Given the description of an element on the screen output the (x, y) to click on. 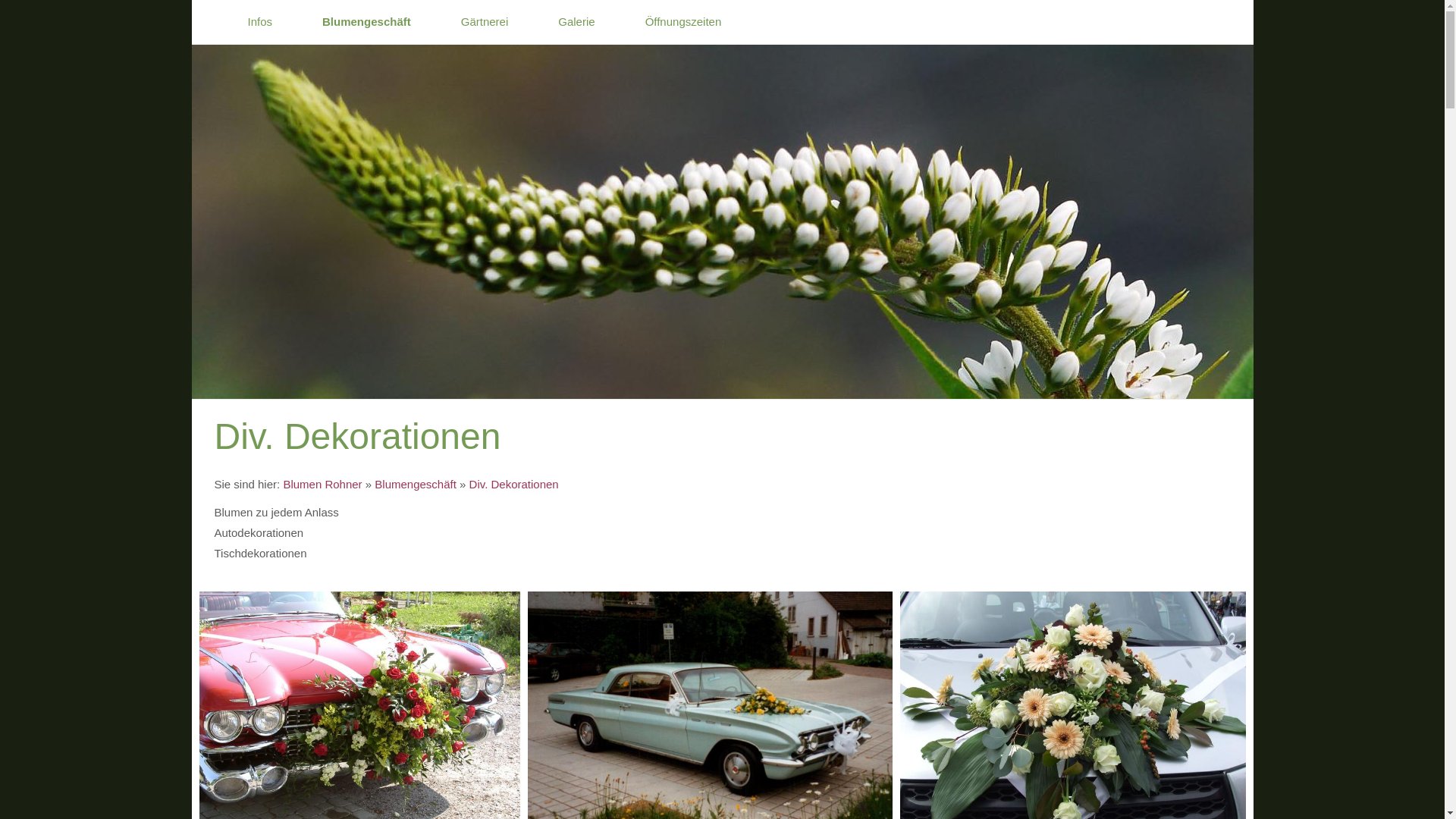
Galerie Element type: text (584, 21)
Infos Element type: text (267, 21)
Div. Dekorationen Element type: text (513, 483)
Blumen Rohner Element type: text (321, 483)
